Given the description of an element on the screen output the (x, y) to click on. 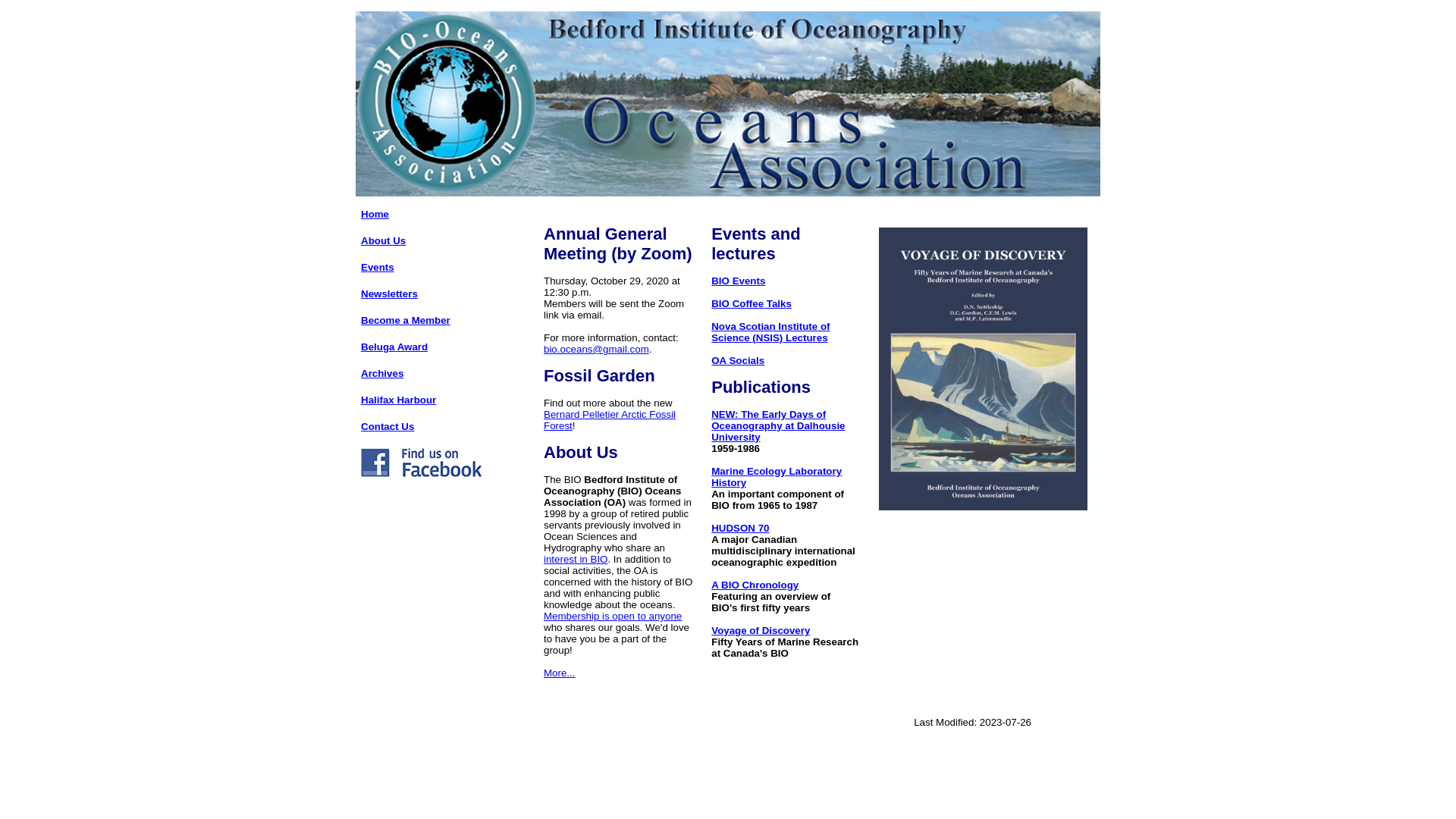
Newsletters Element type: text (388, 293)
OA Socials Element type: text (737, 360)
BIO Coffee Talks Element type: text (751, 303)
interest in BIO Element type: text (575, 558)
Home Element type: text (374, 213)
Archives Element type: text (381, 373)
Beluga Award Element type: text (393, 346)
HUDSON 70 Element type: text (739, 527)
Become a Member Element type: text (405, 320)
Marine Ecology Laboratory History Element type: text (776, 476)
NEW: The Early Days of Oceanography at Dalhousie University Element type: text (777, 425)
About Us Element type: text (382, 240)
bio.oceans@gmail.com Element type: text (596, 348)
Nova Scotian Institute of Science (NSIS) Lectures Element type: text (770, 331)
Events Element type: text (377, 267)
Membership is open to anyone Element type: text (612, 615)
Contact Us Element type: text (387, 426)
A BIO Chronology Element type: text (754, 584)
More... Element type: text (558, 672)
Halifax Harbour Element type: text (398, 399)
Bernard Pelletier Arctic Fossil Forest Element type: text (609, 419)
Voyage of Discovery Element type: text (760, 630)
BIO Events Element type: text (738, 280)
